Given the description of an element on the screen output the (x, y) to click on. 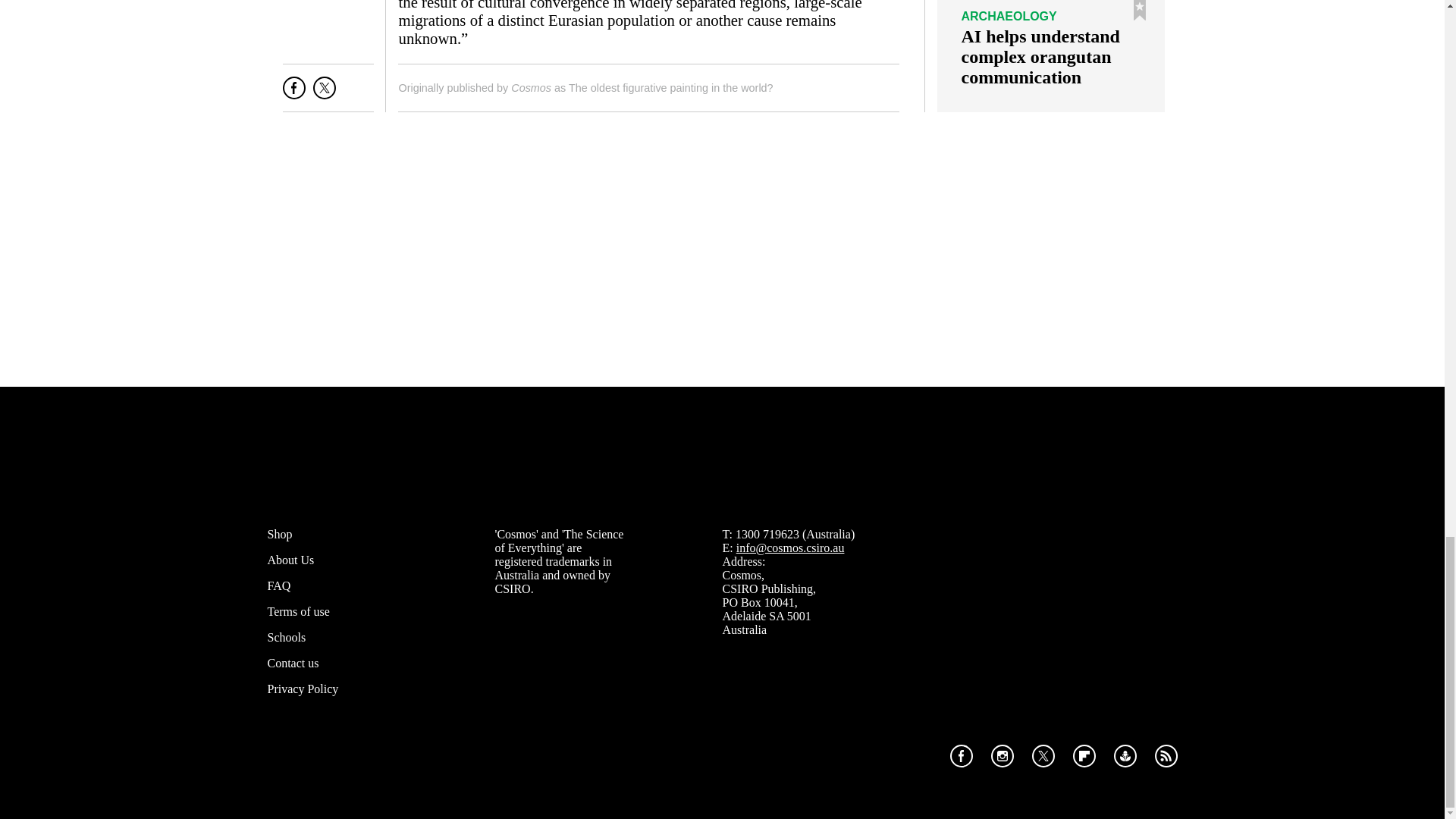
Tweet (324, 93)
The oldest figurative painting in the world? (671, 87)
Share on Facebook (293, 93)
